Given the description of an element on the screen output the (x, y) to click on. 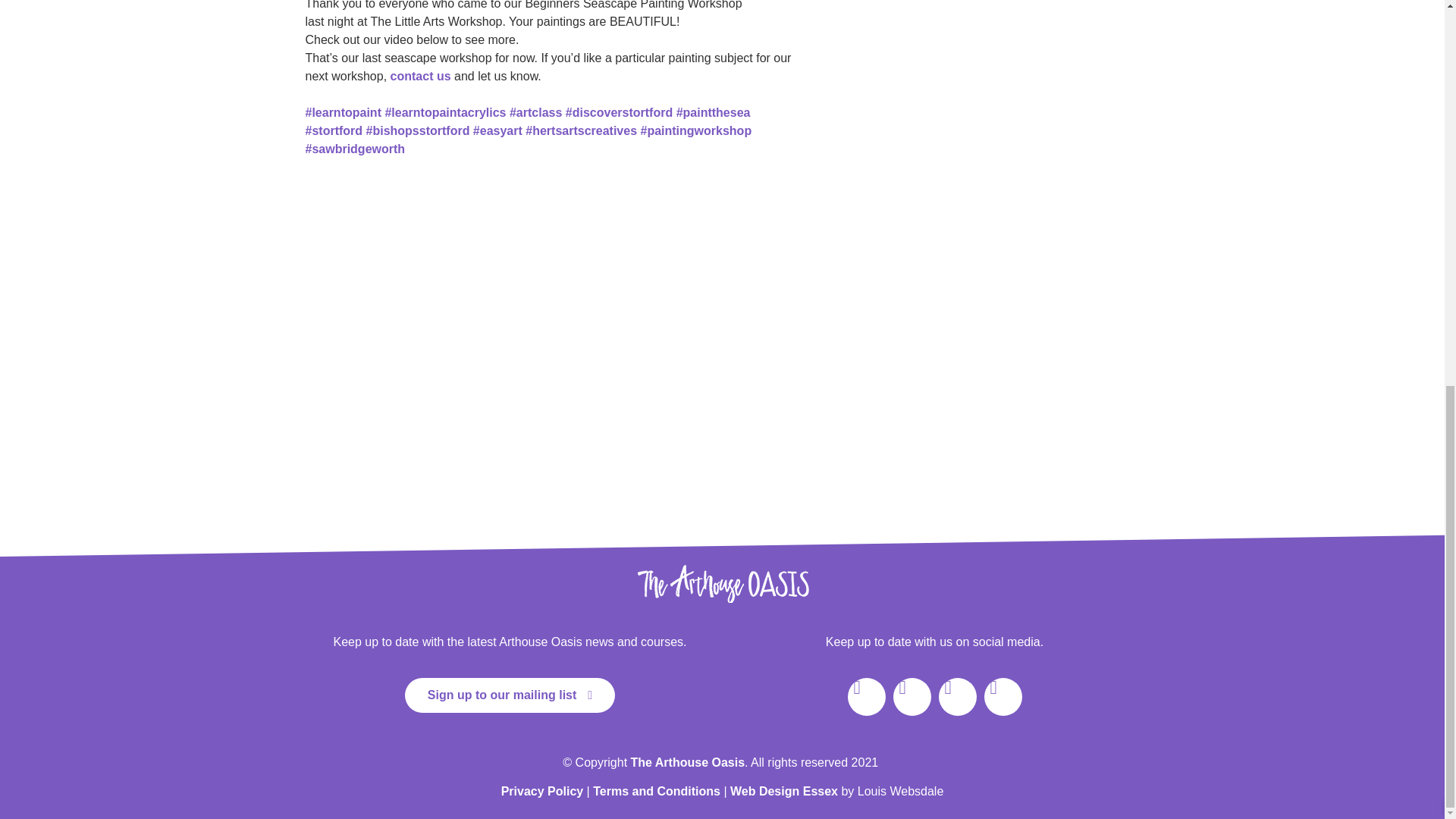
contact us (420, 75)
